Given the description of an element on the screen output the (x, y) to click on. 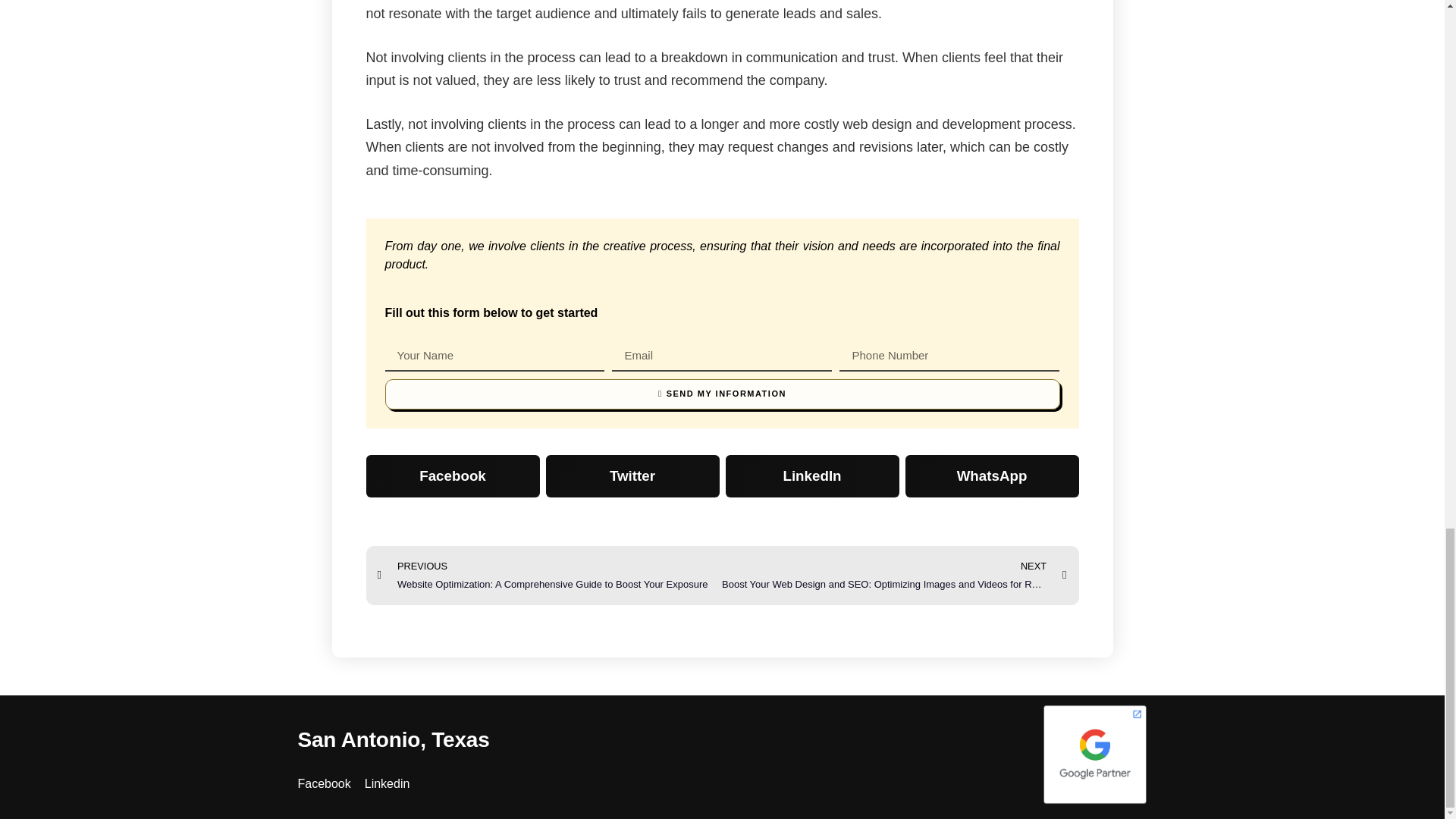
Linkedin (387, 783)
Facebook (323, 783)
SEND MY INFORMATION (722, 394)
